Given the description of an element on the screen output the (x, y) to click on. 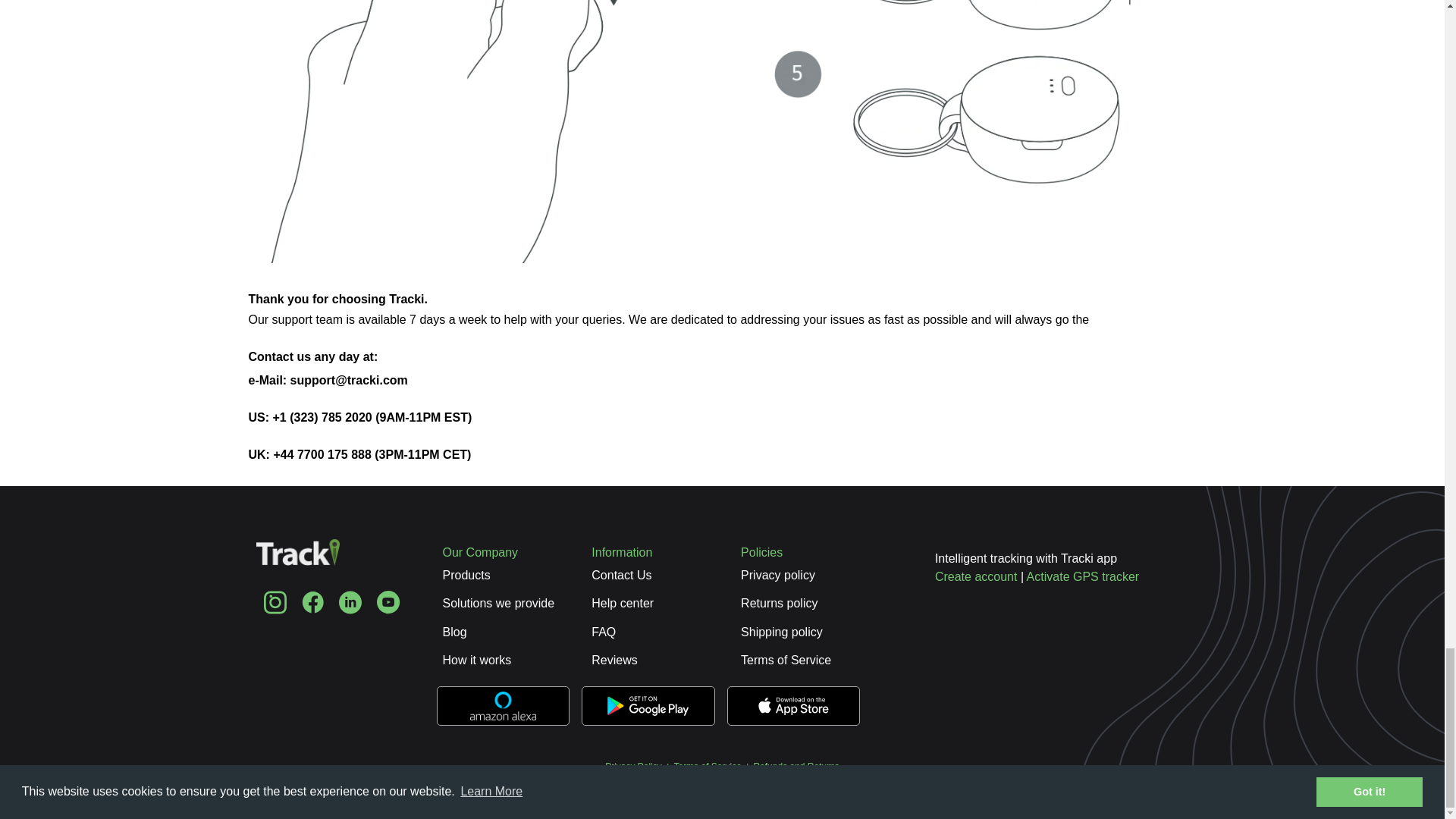
Help center (622, 603)
Blog (454, 631)
Shipping policy (781, 631)
Contact Us (620, 574)
tracki white logo (297, 562)
Returns policy (778, 603)
How it works (477, 659)
Solutions we provide (498, 603)
Privacy policy (778, 574)
FAQ (603, 631)
Products (466, 574)
Reviews (614, 659)
